Given the description of an element on the screen output the (x, y) to click on. 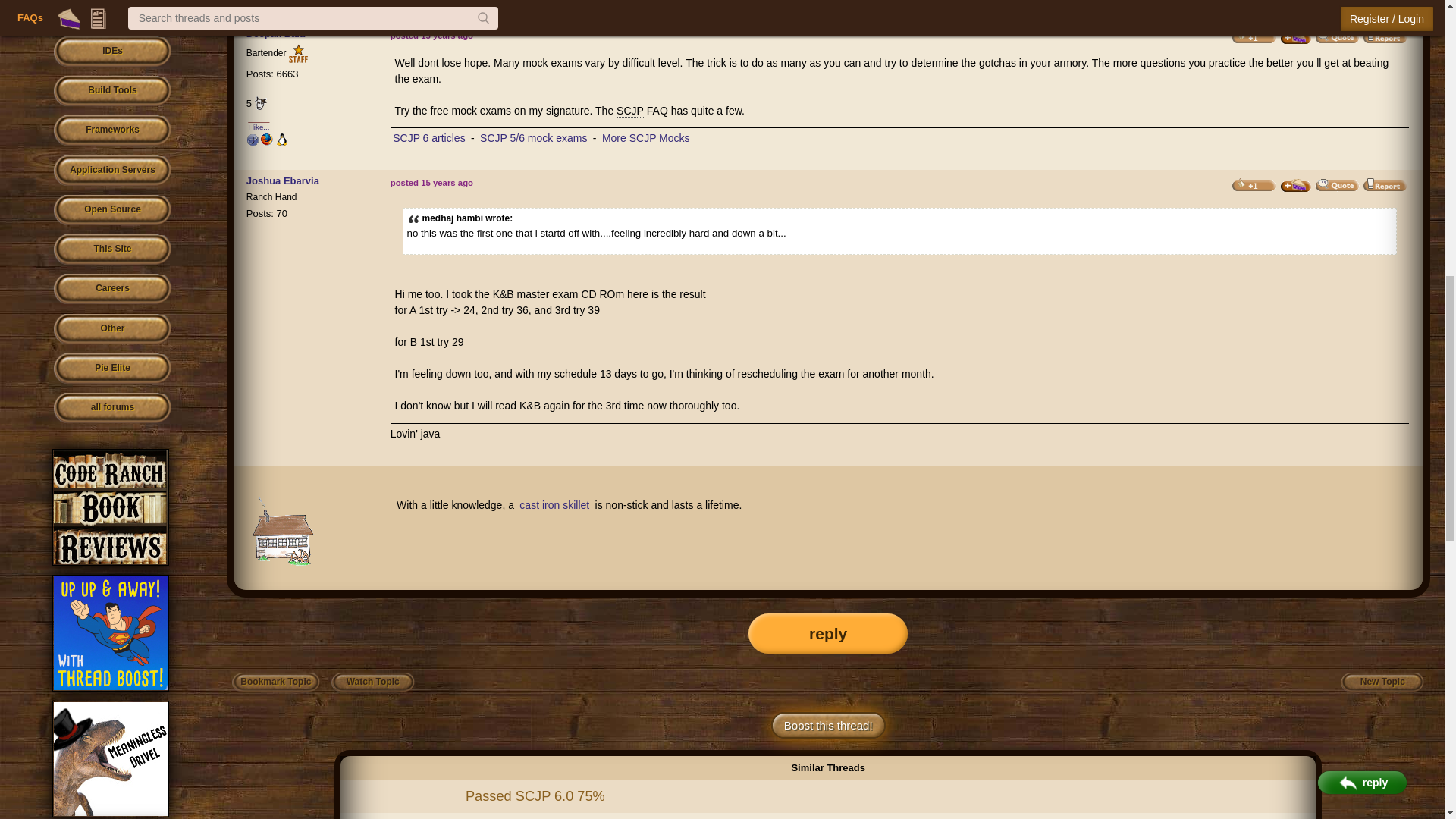
Paradigms (112, 13)
Frameworks (112, 130)
Build Tools (112, 91)
IDEs (112, 51)
